Given the description of an element on the screen output the (x, y) to click on. 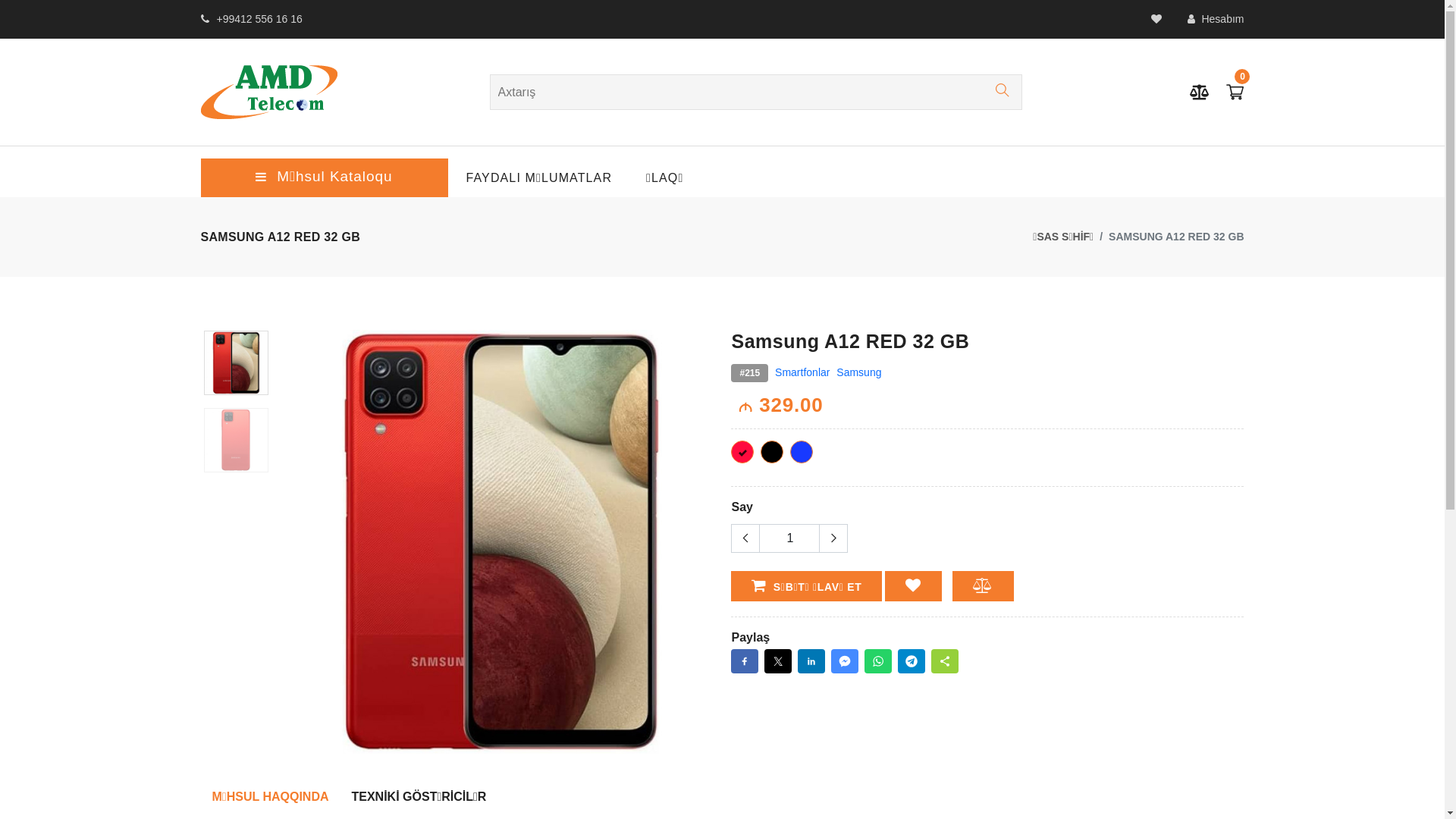
Samsung Element type: text (858, 372)
Red Element type: hover (742, 451)
Black Element type: hover (771, 451)
Smartfonlar Element type: text (802, 372)
Blue Element type: hover (801, 451)
